Given the description of an element on the screen output the (x, y) to click on. 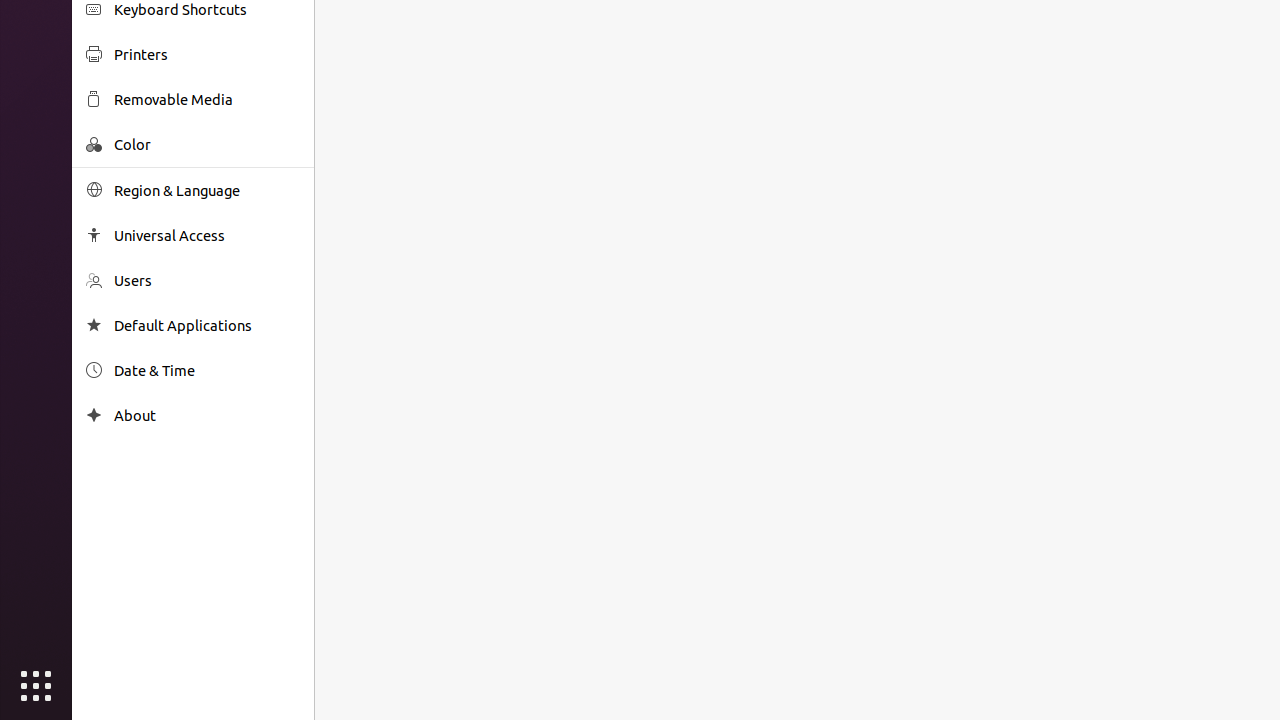
Color Element type: label (207, 144)
Keyboard Shortcuts Element type: label (207, 9)
